Given the description of an element on the screen output the (x, y) to click on. 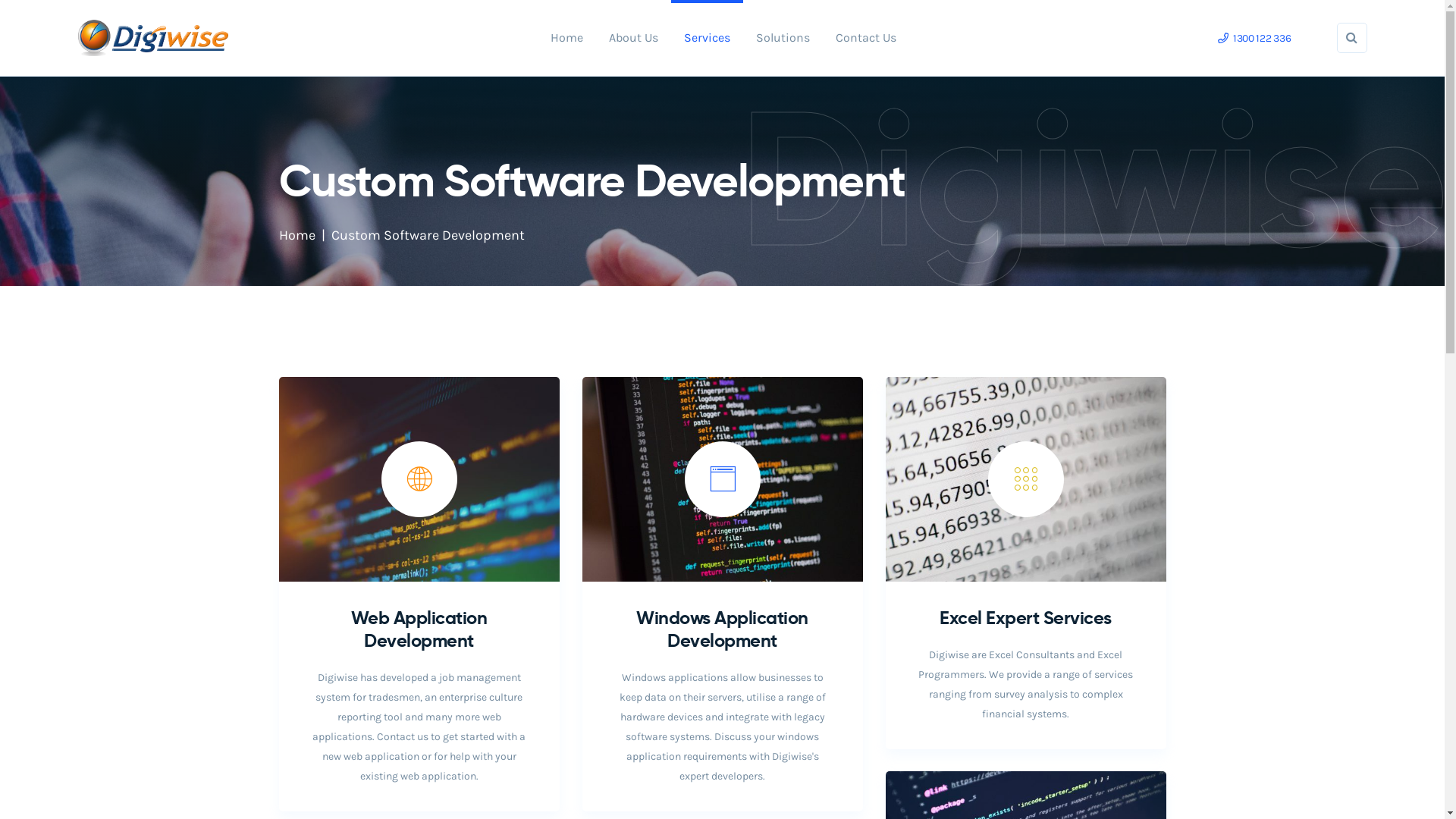
1300 122 336 Element type: text (1253, 37)
Contact Us Element type: text (865, 37)
Excel Expert Services Element type: text (1025, 617)
Home Element type: text (297, 234)
Services Element type: text (707, 37)
Web Application Development Element type: text (419, 629)
Home Element type: text (566, 37)
Solutions Element type: text (782, 37)
Digiwise Element type: hover (152, 35)
Windows Application Development Element type: text (722, 629)
About Us Element type: text (633, 37)
